Given the description of an element on the screen output the (x, y) to click on. 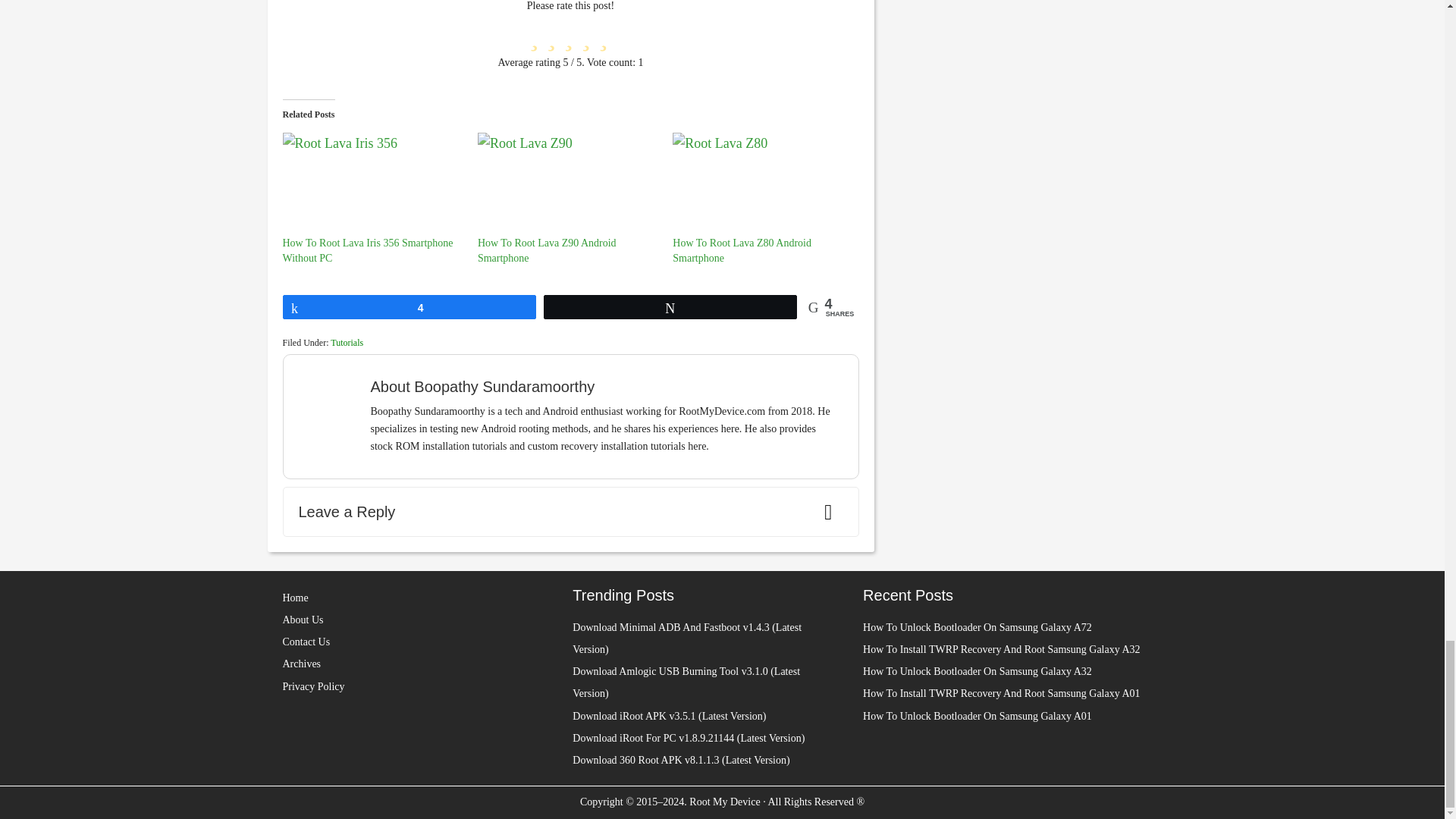
Gravatar for Boopathy Sundaramoorthy (332, 403)
How To Root Lava Z90 Android Smartphone (567, 183)
How To Root Lava Z80 Android Smartphone (761, 183)
How To Root Lava Z90 Android Smartphone (546, 250)
How To Root Lava Iris 356 Smartphone Without PC (367, 250)
How To Root Lava Z80 Android Smartphone (741, 250)
How To Root Lava Iris 356 Smartphone Without PC (367, 250)
4 (409, 306)
How To Root Lava Z90 Android Smartphone (546, 250)
How To Root Lava Z80 Android Smartphone (741, 250)
How To Root Lava Iris 356 Smartphone Without PC (371, 183)
